Given the description of an element on the screen output the (x, y) to click on. 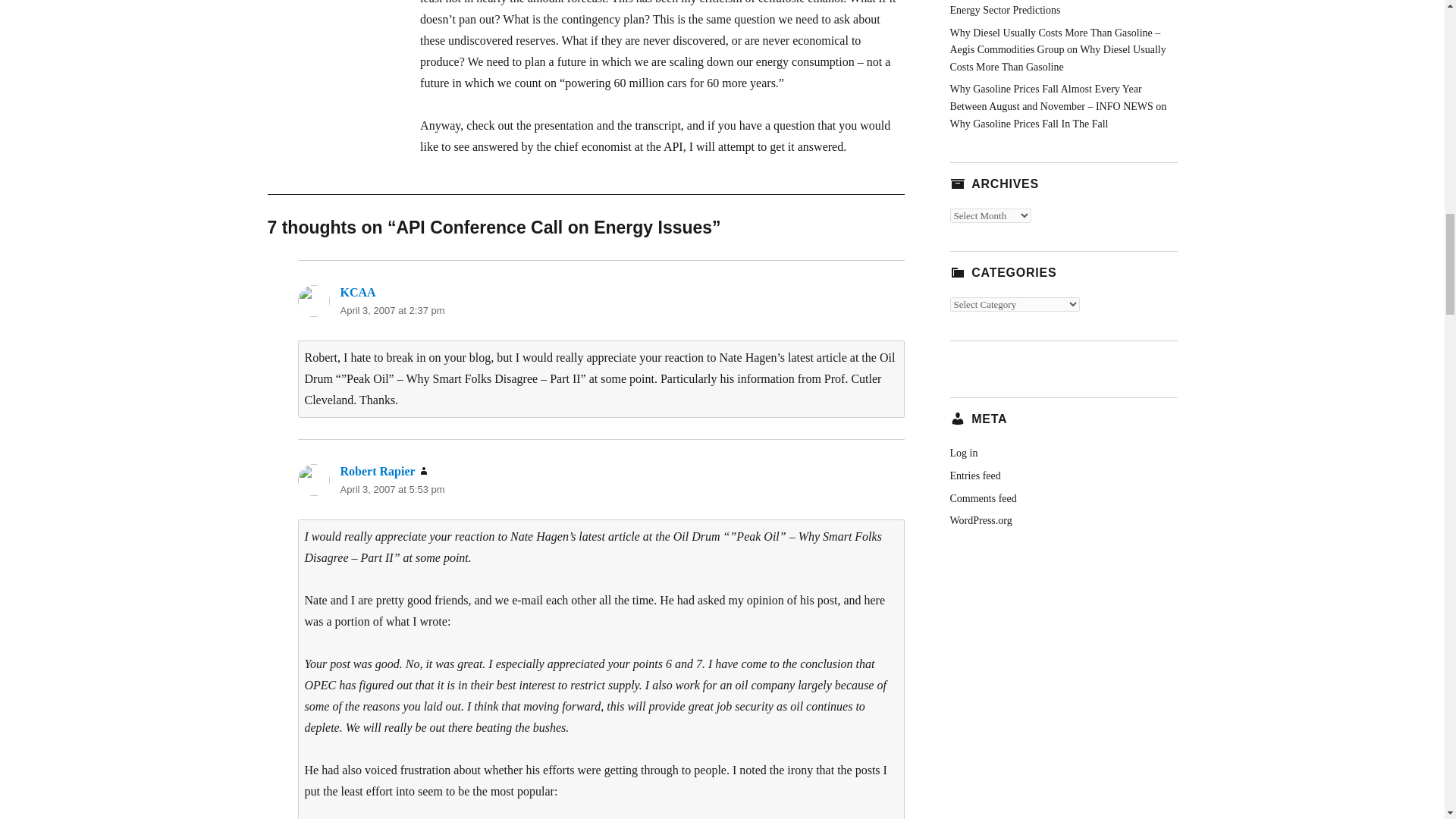
Robert Rapier (376, 471)
April 3, 2007 at 5:53 pm (391, 489)
KCAA (357, 291)
April 3, 2007 at 2:37 pm (391, 310)
